Given the description of an element on the screen output the (x, y) to click on. 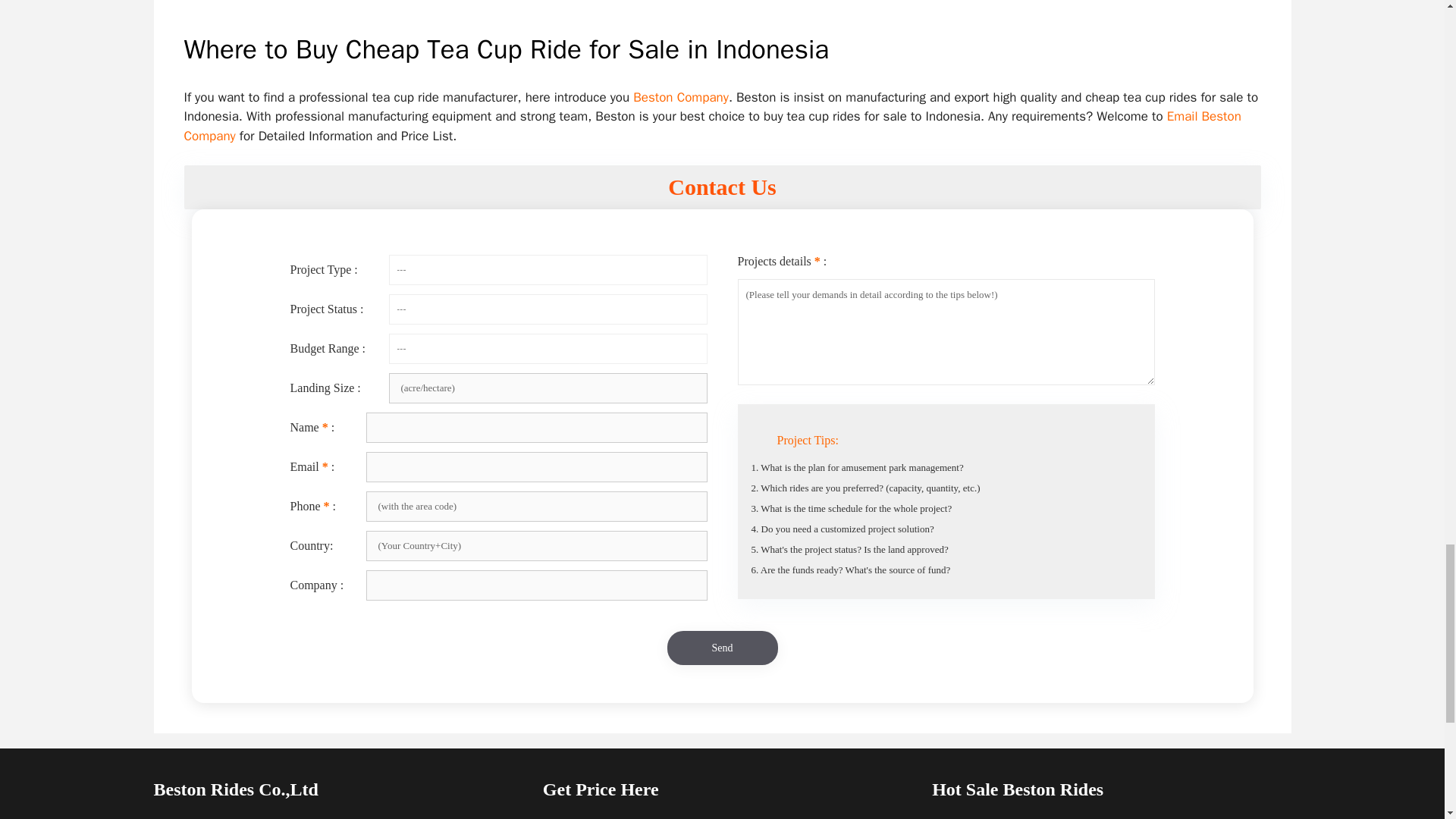
Send (721, 647)
